Given the description of an element on the screen output the (x, y) to click on. 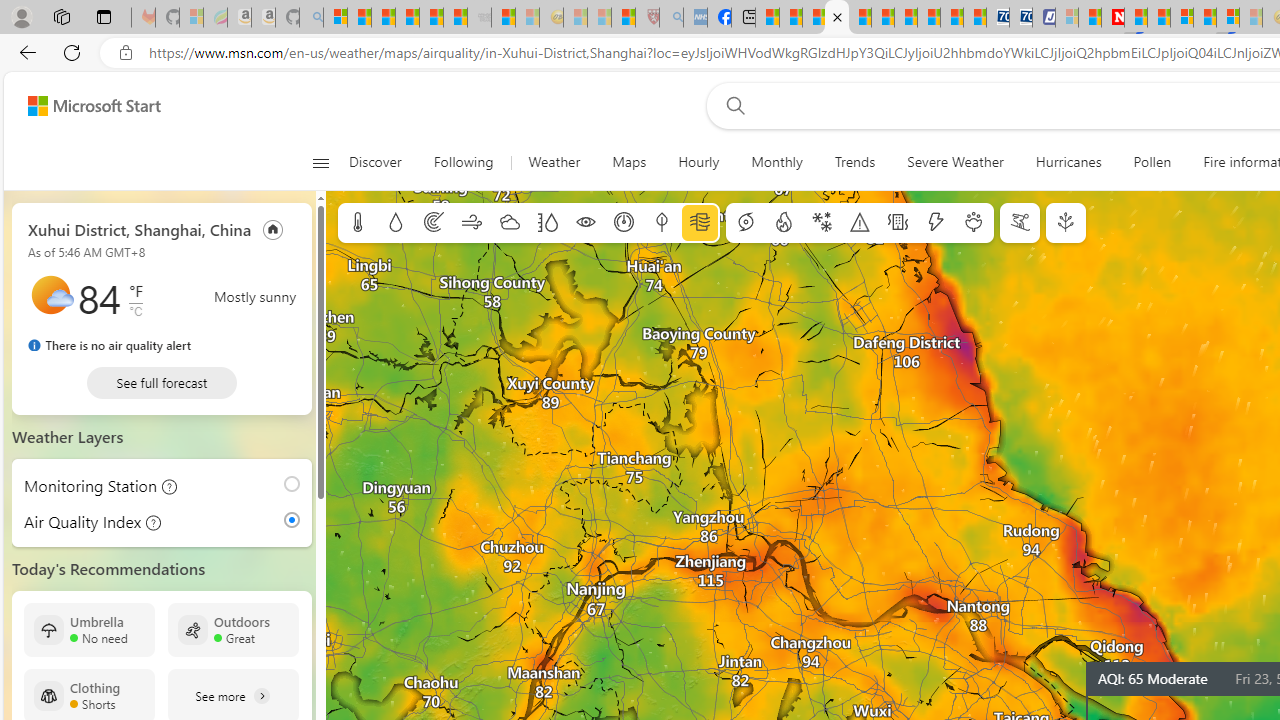
Hurricane (746, 223)
Stocks - MSN (455, 17)
Trends (854, 162)
Wind (472, 223)
Xuhui District, Shanghai, China (140, 228)
Umbrella No need (89, 629)
World - MSN (813, 17)
Cheap Car Rentals - Save70.com (997, 17)
